Given the description of an element on the screen output the (x, y) to click on. 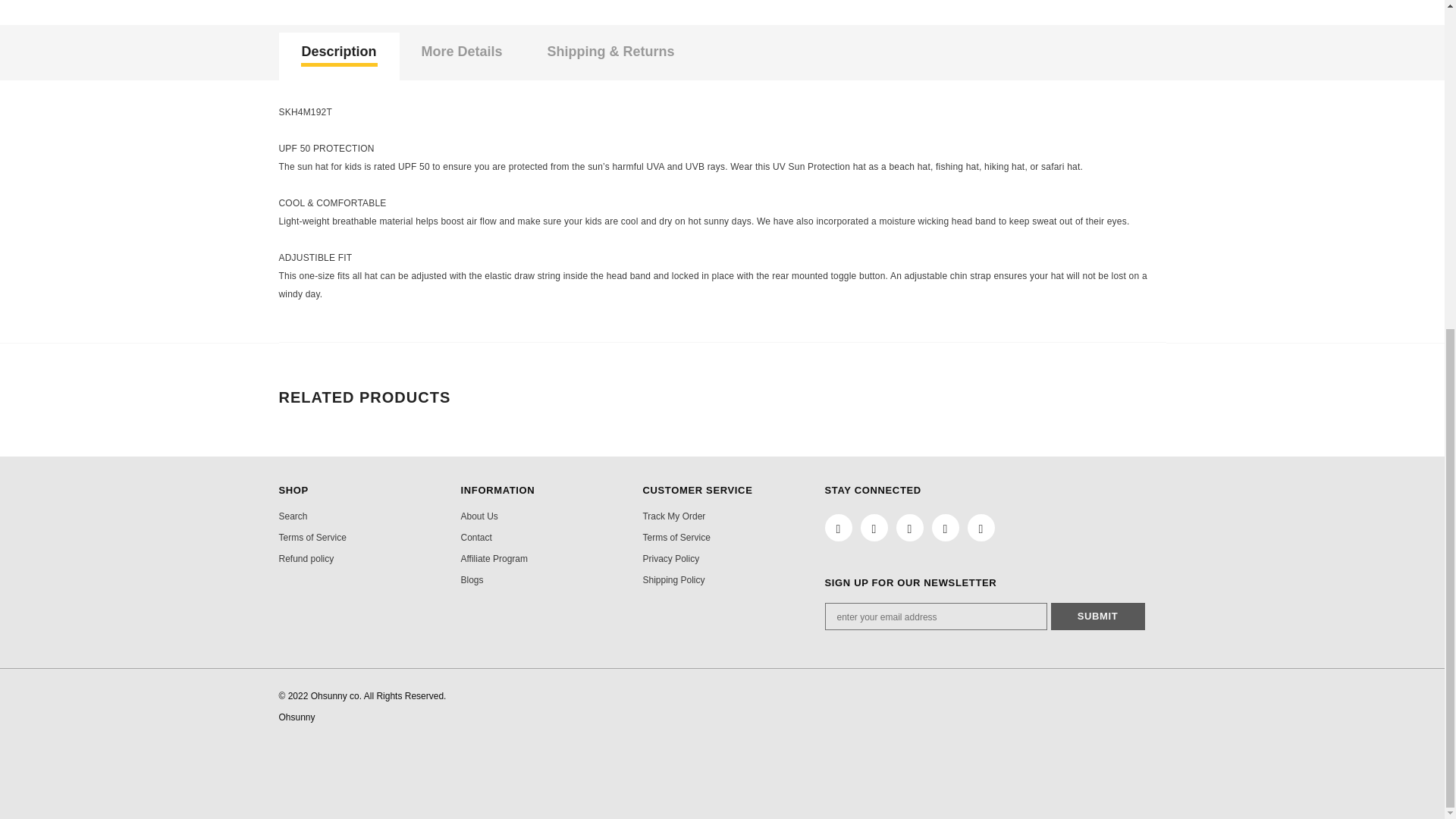
Search (293, 516)
Submit (1097, 615)
About Us (478, 516)
Blogs (471, 579)
Refund policy (306, 558)
Track My Order (673, 516)
Terms of Service (312, 537)
Contact (476, 537)
Affiliate Program (493, 558)
